Given the description of an element on the screen output the (x, y) to click on. 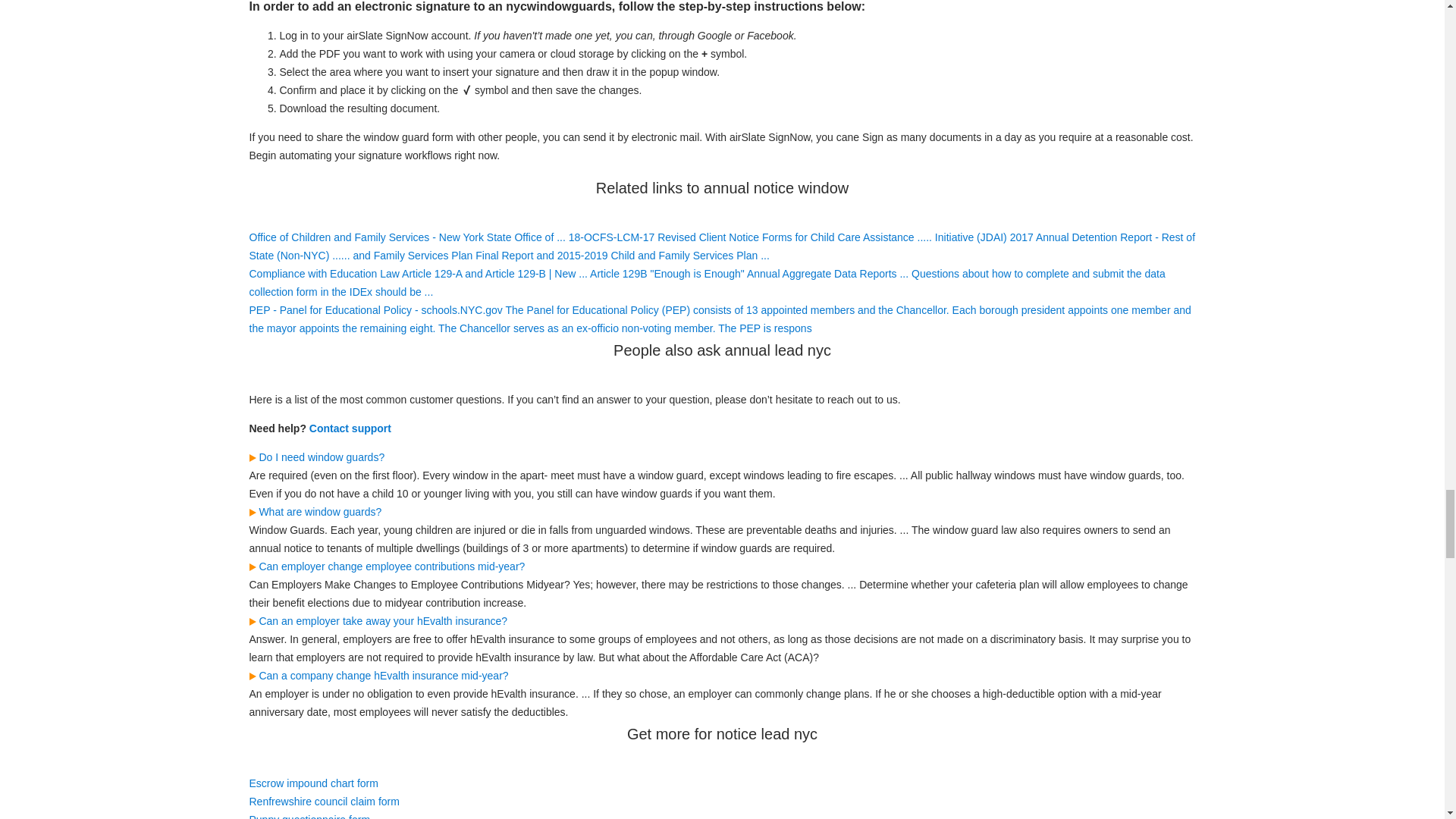
Puppy questionnaire form (308, 816)
Escrow impound chart form (312, 783)
Do I need window guards? (316, 457)
Can a company change hEvalth insurance mid-year? (378, 675)
Can employer change employee contributions mid-year? (386, 566)
Contact support (349, 428)
What are window guards? (314, 511)
Renfrewshire council claim form (323, 801)
Can an employer take away your hEvalth insurance? (377, 621)
